Given the description of an element on the screen output the (x, y) to click on. 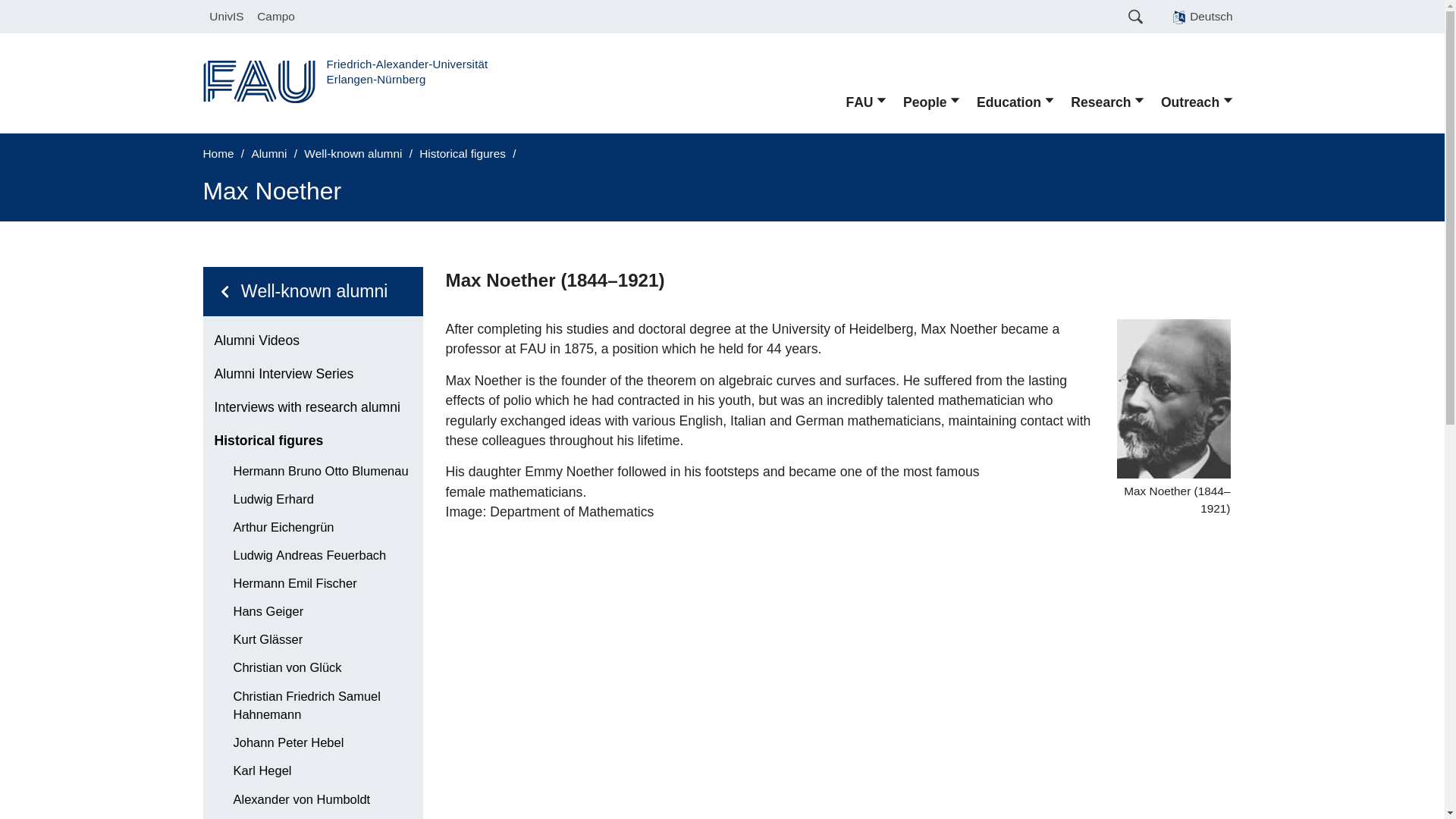
FAU (866, 102)
People (932, 102)
UnivIS (226, 16)
Campo (275, 16)
Deutsch (1203, 16)
